Given the description of an element on the screen output the (x, y) to click on. 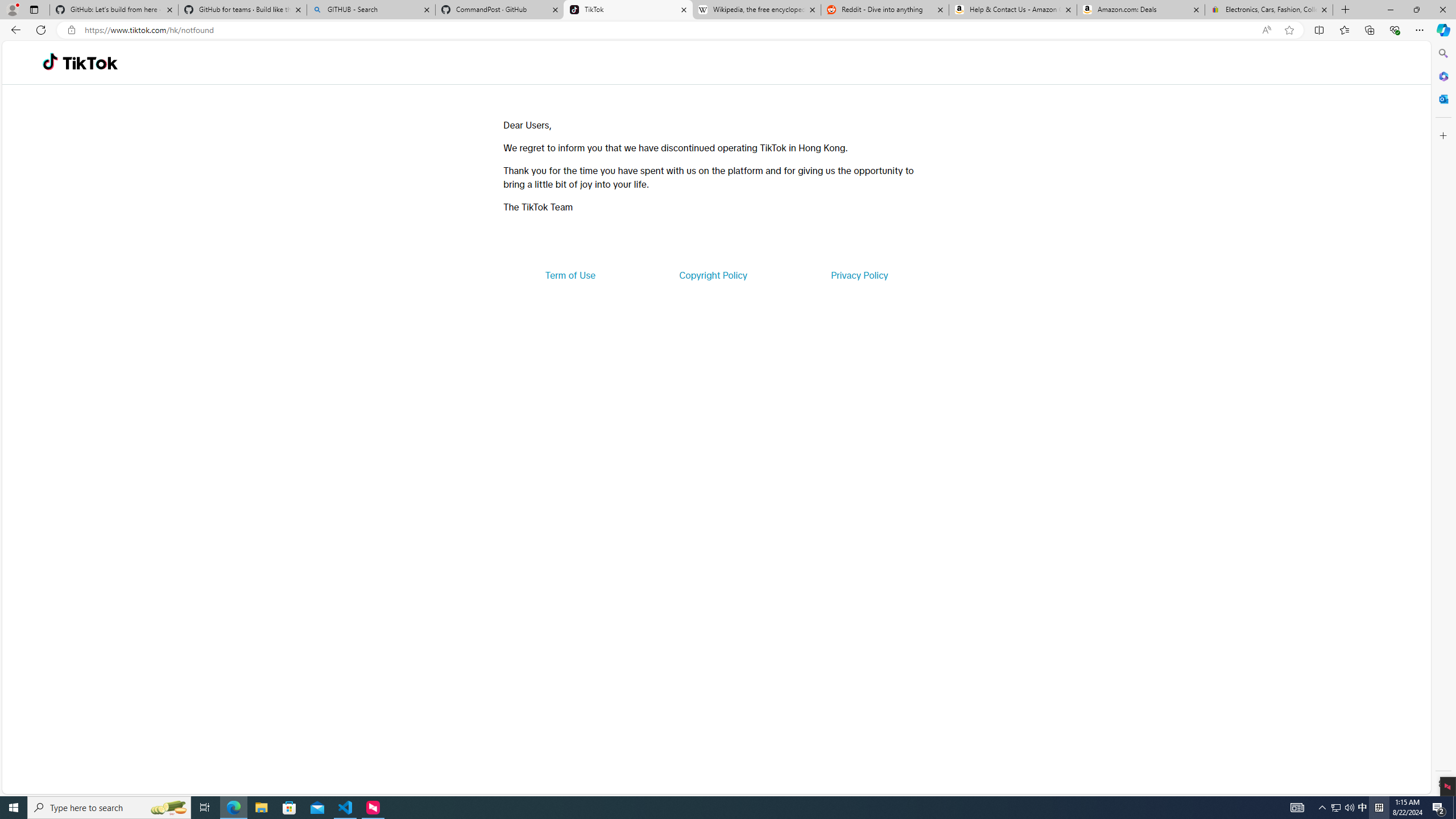
Copyright Policy (712, 274)
Amazon.com: Deals (1140, 9)
